Given the description of an element on the screen output the (x, y) to click on. 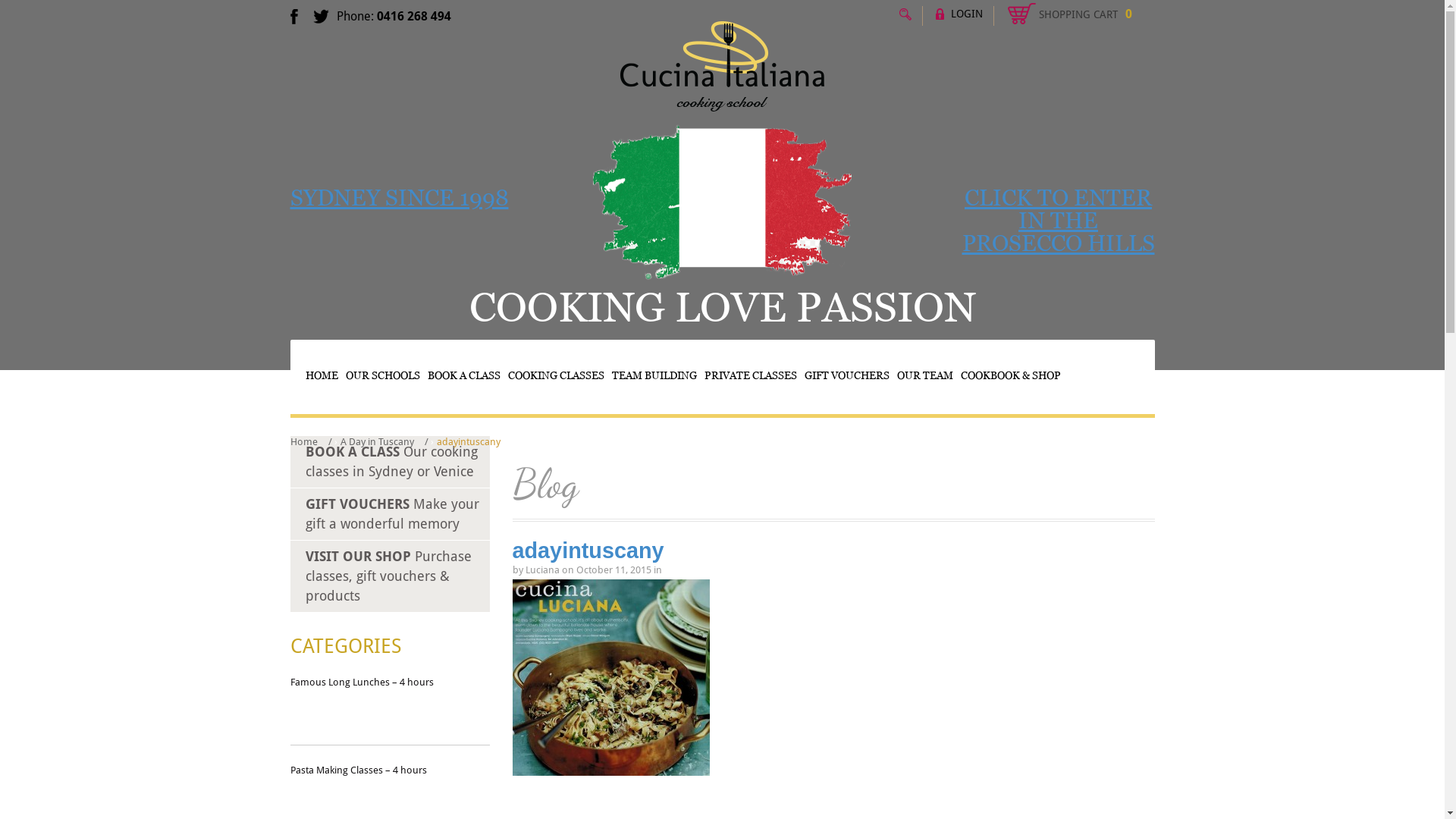
Twitter Element type: hover (521, 799)
CLICK TO ENTER
IN THE
PROSECCO HILLS Element type: text (1057, 220)
GIFT VOUCHERS Make your gift a wonderful memory Element type: text (391, 513)
OUR TEAM Element type: text (925, 375)
0 Element type: text (1063, 13)
adayintuscany Element type: text (588, 550)
BOOK A CLASS Element type: text (463, 375)
SYDNEY SINCE 1998 Element type: text (398, 197)
Luciana Element type: text (541, 569)
Facebook Element type: text (293, 20)
A Day in Tuscany Element type: text (376, 441)
Twitter Element type: text (320, 20)
Home Element type: text (302, 441)
Facebook Element type: hover (515, 799)
0416 268 494 Element type: text (413, 16)
LOGIN Element type: text (958, 13)
COOKBOOK & SHOP Element type: text (1010, 375)
BOOK A CLASS Our cooking classes in Sydney or Venice Element type: text (390, 461)
TEAM BUILDING Element type: text (654, 375)
HOME Element type: text (321, 375)
COOKING CLASSES Element type: text (555, 375)
VISIT OUR SHOP Purchase classes, gift vouchers & products Element type: text (387, 575)
PRIVATE CLASSES Element type: text (750, 375)
OUR SCHOOLS Element type: text (382, 375)
GIFT VOUCHERS Element type: text (846, 375)
